Given the description of an element on the screen output the (x, y) to click on. 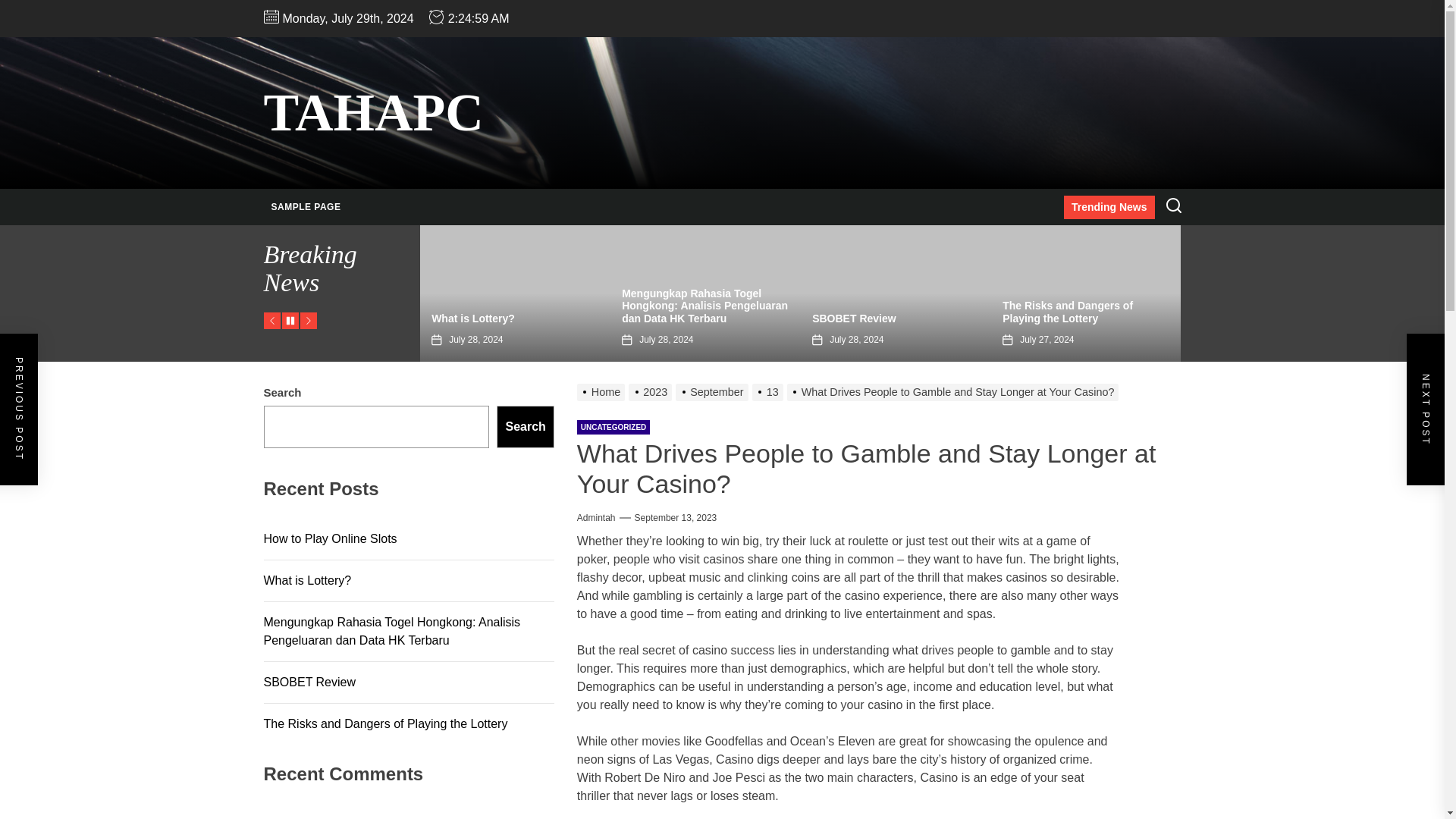
TAHAPC (373, 112)
SAMPLE PAGE (306, 207)
Trending News (1109, 207)
SBOBET Review (853, 318)
The Risks and Dangers of Playing the Lottery (1067, 311)
What is Lottery? (472, 318)
